Given the description of an element on the screen output the (x, y) to click on. 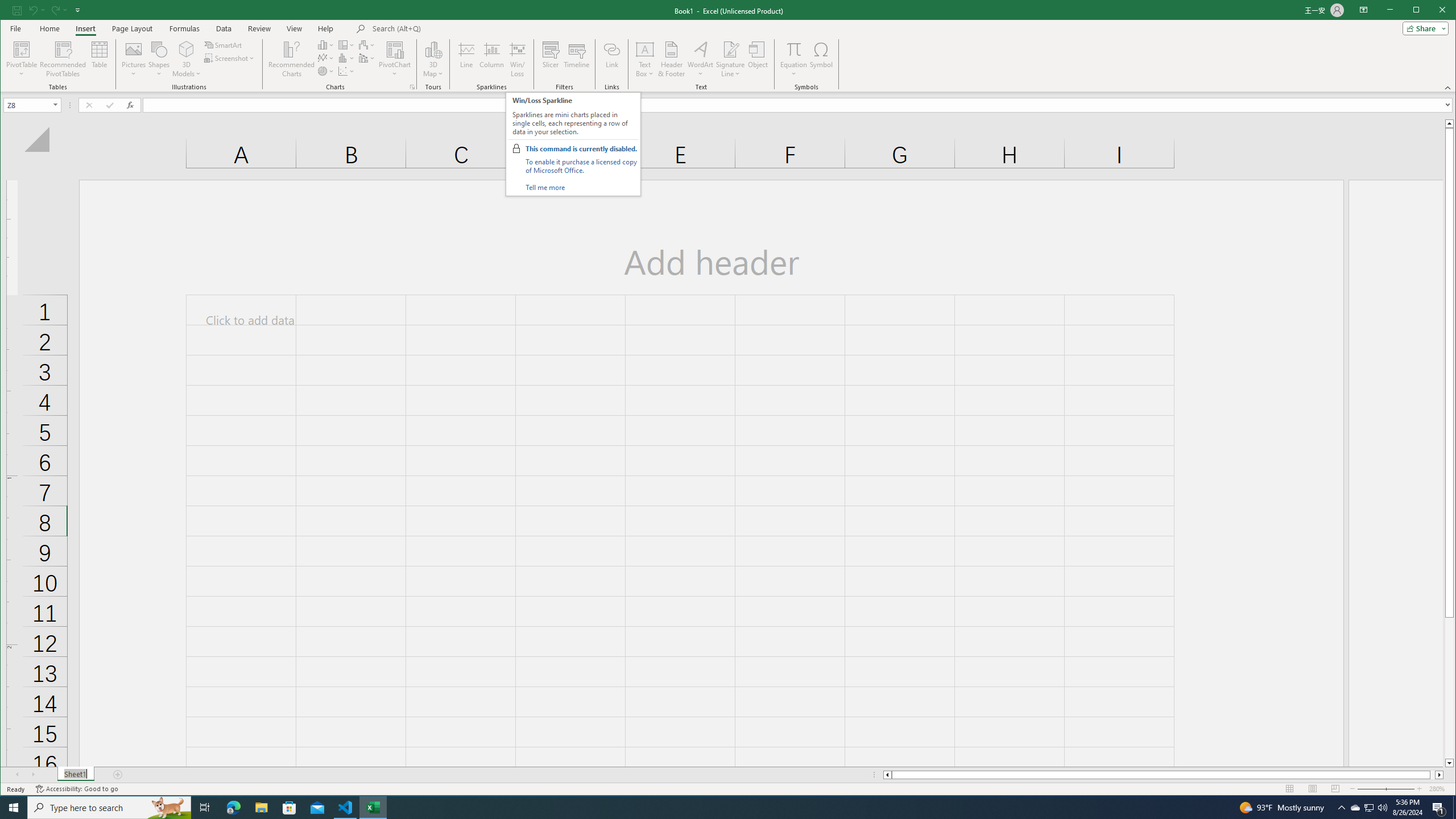
Shapes (159, 59)
3D Models (186, 48)
PivotTable (22, 59)
